Given the description of an element on the screen output the (x, y) to click on. 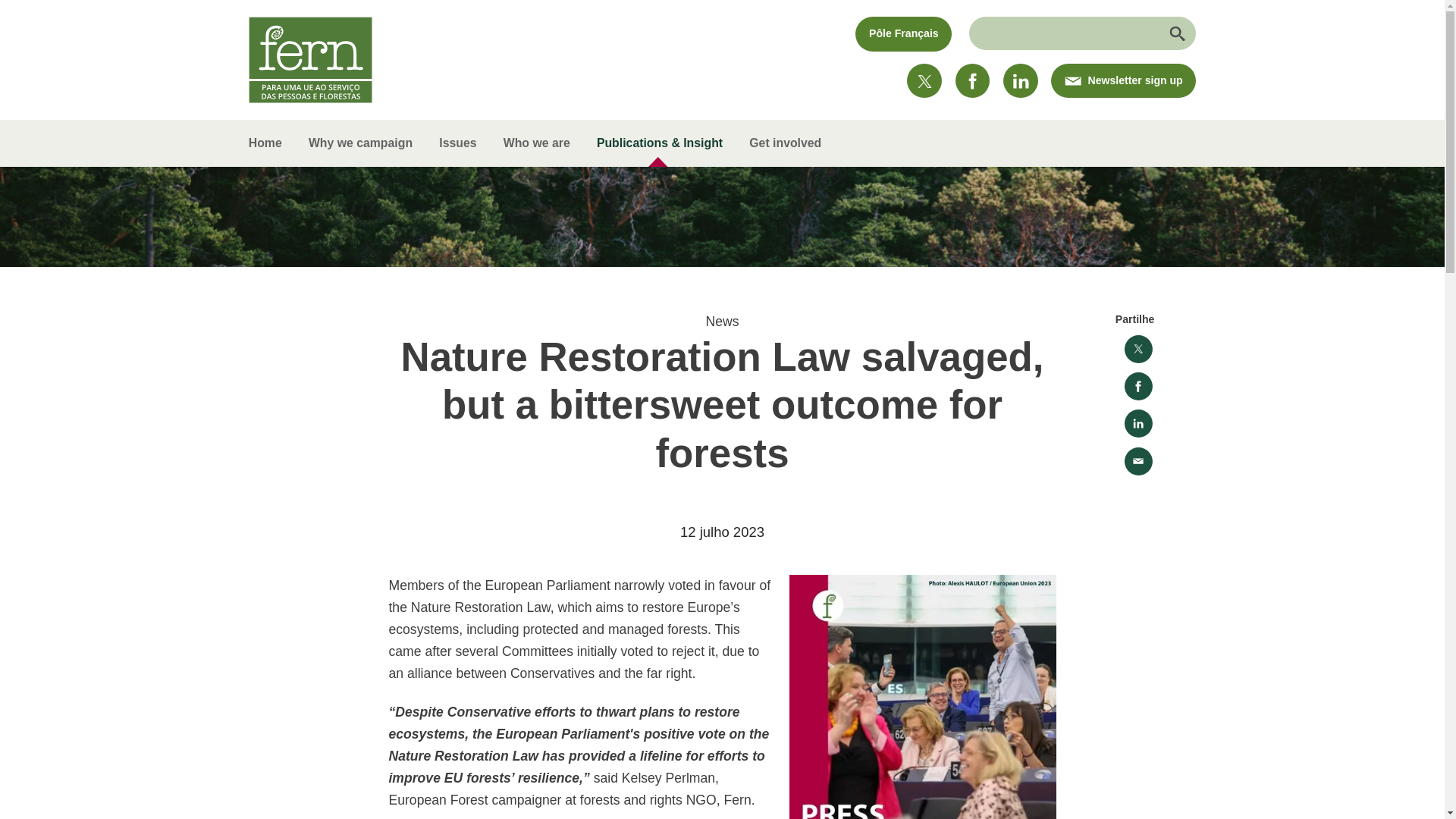
Fern - Por uma UE em favor dos povos e das florestas (310, 59)
LinkedIn (1020, 80)
Why we campaign (360, 142)
Who we are (536, 142)
Facebook (972, 80)
Newsletter sign up (1123, 80)
Issues (457, 142)
Home (271, 142)
Subscribe to our newsletter (1123, 80)
Why we campaign (360, 142)
Twitter (924, 80)
Home (271, 142)
Procurar (1175, 32)
